Given the description of an element on the screen output the (x, y) to click on. 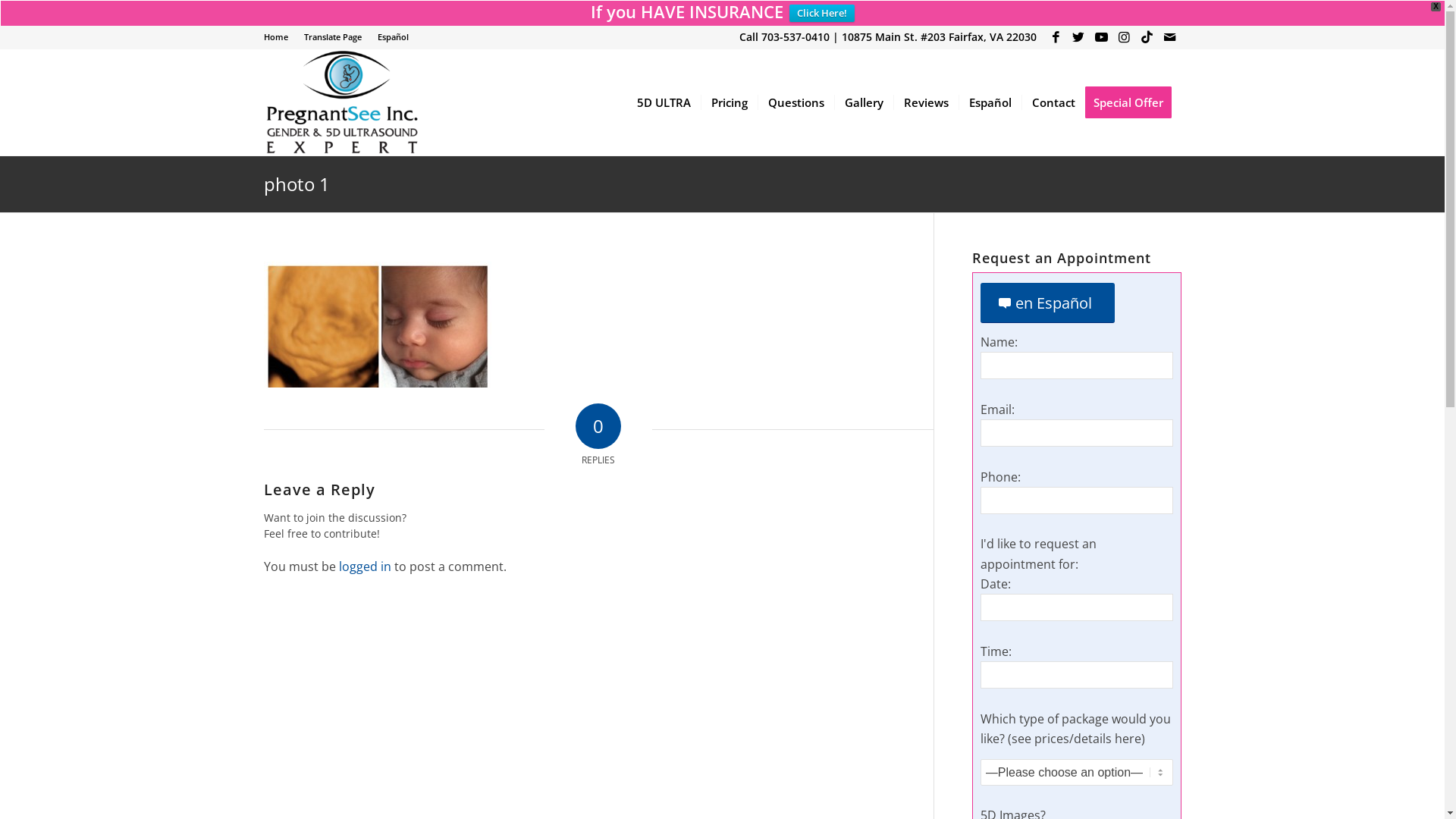
Icon_name Element type: hover (1146, 36)
5D ULTRA Element type: text (662, 102)
Reviews Element type: text (925, 102)
Questions Element type: text (794, 102)
Call 703-537-0410 Element type: text (783, 36)
Home Element type: text (275, 36)
Youtube Element type: hover (1101, 36)
Contact Element type: text (1052, 102)
logged in Element type: text (364, 566)
photo 1 Element type: text (296, 183)
Facebook Element type: hover (1055, 36)
Pricing Element type: text (728, 102)
Gallery Element type: text (863, 102)
Instagram Element type: hover (1124, 36)
Translate Page Element type: text (331, 36)
see prices/details here Element type: text (1076, 738)
Mail Element type: hover (1169, 36)
Click Here! Element type: text (821, 12)
10875 Main St. #203 Fairfax, VA 22030 Element type: text (938, 36)
Twitter Element type: hover (1078, 36)
Special Offer Element type: text (1132, 102)
